Given the description of an element on the screen output the (x, y) to click on. 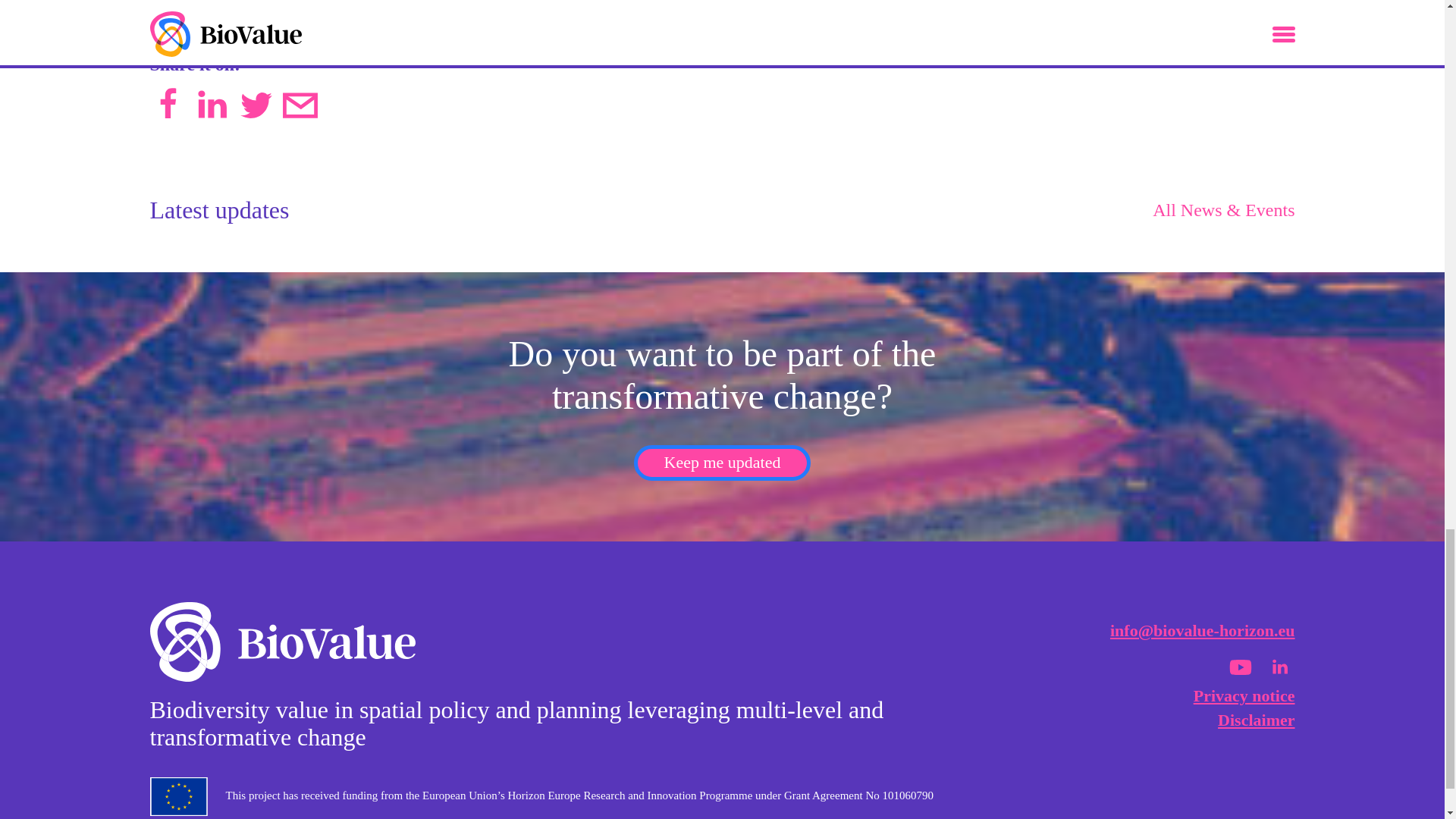
Keep me updated (721, 462)
Keep me updated (721, 462)
Youtube (1240, 666)
Privacy notice (1244, 695)
Disclaimer (1255, 719)
BioValue - HorizonEU (281, 644)
Linkedin (1280, 666)
